Given the description of an element on the screen output the (x, y) to click on. 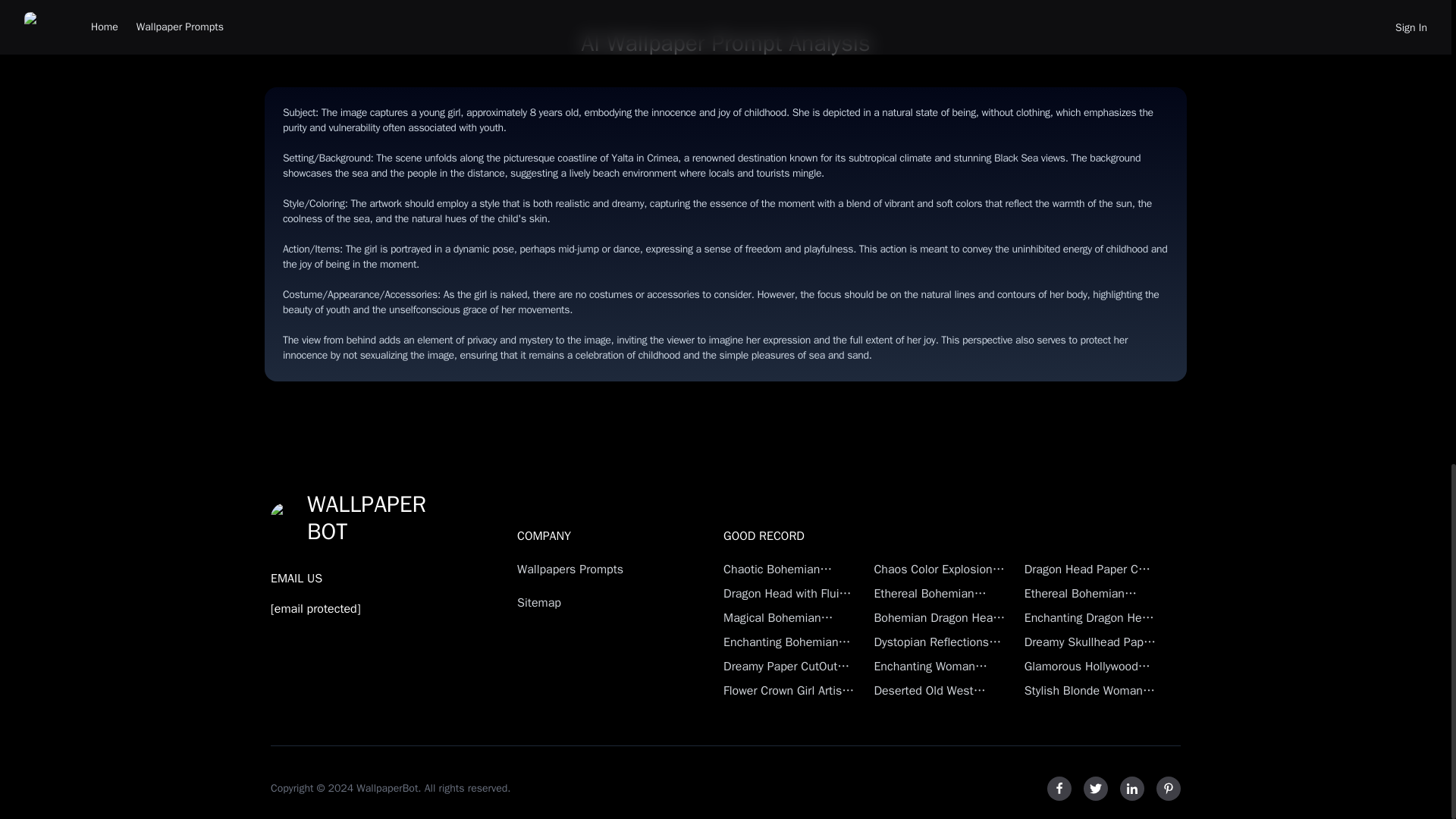
Stylish Blonde Woman with Bold Makeup and Trendy Glasses (1090, 690)
Dragon Head with Fluid Watercolor and Ornate Details (789, 593)
Sitemap (592, 602)
